Given the description of an element on the screen output the (x, y) to click on. 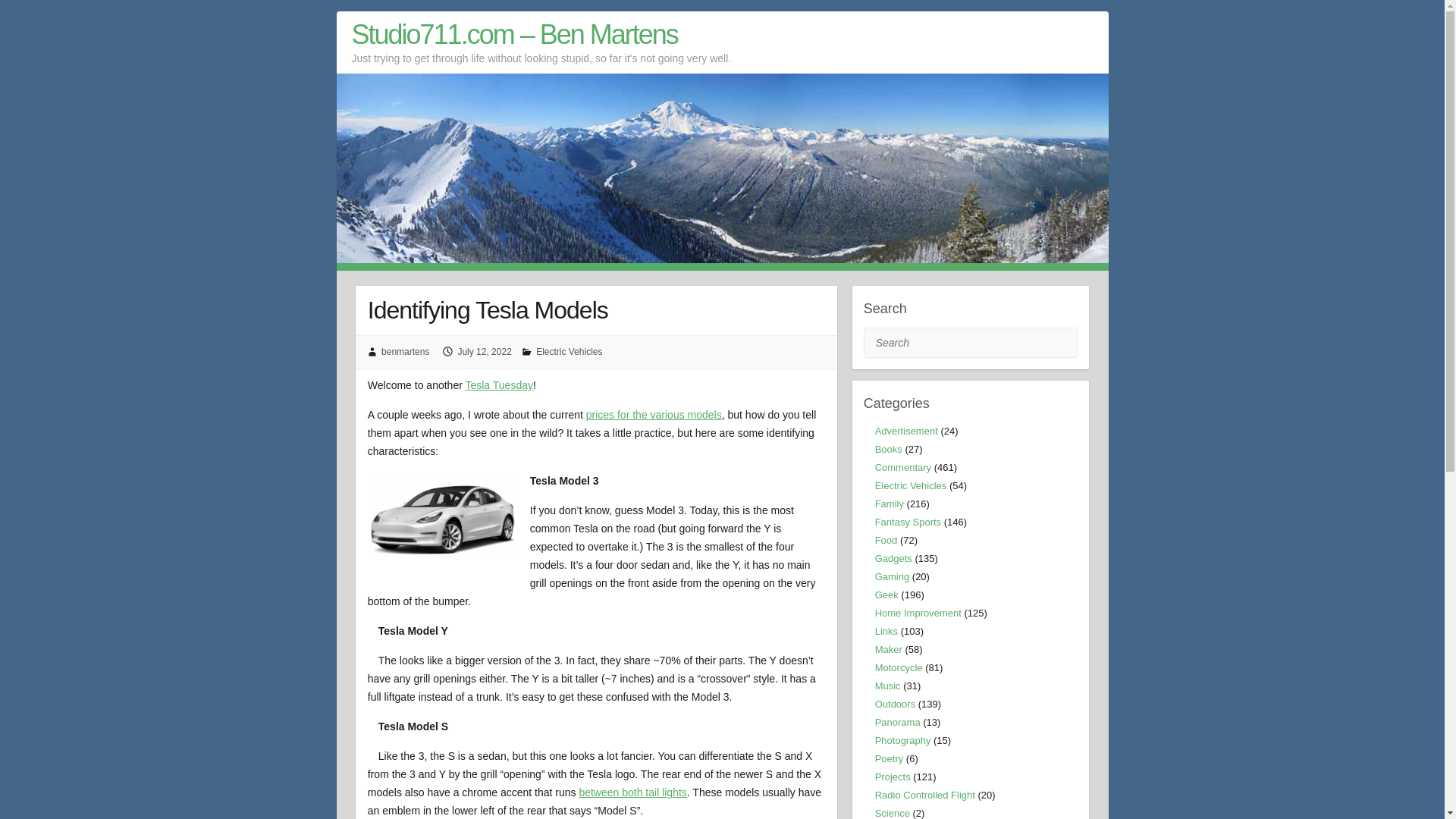
Science (892, 813)
Food (886, 540)
Commentary (903, 467)
prices for the various models (654, 414)
Electric Vehicles (568, 351)
Music (888, 685)
Maker (888, 649)
Gadgets (893, 558)
Home Improvement (917, 613)
Motorcycle (899, 667)
